Given the description of an element on the screen output the (x, y) to click on. 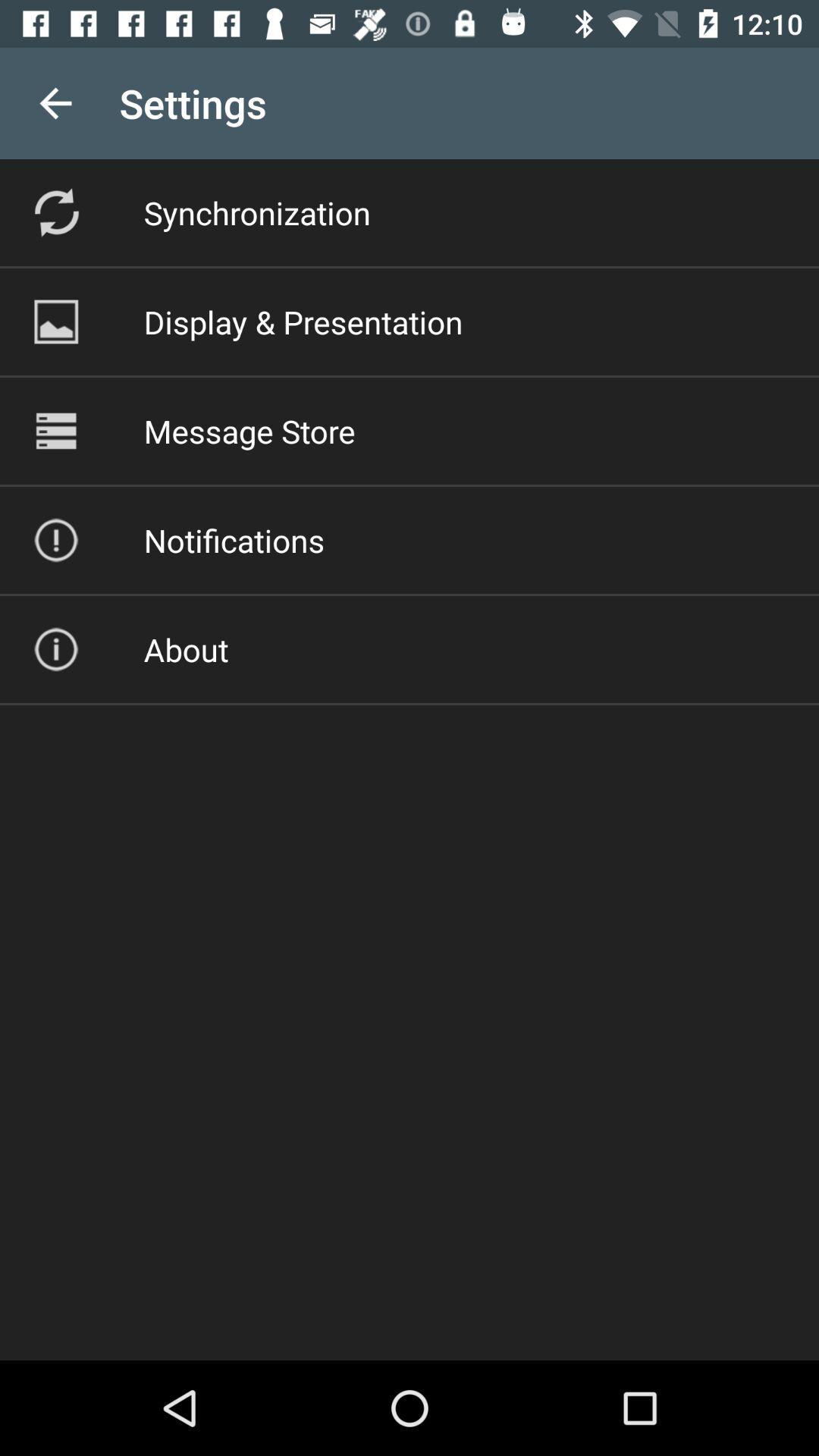
choose message store item (249, 430)
